Given the description of an element on the screen output the (x, y) to click on. 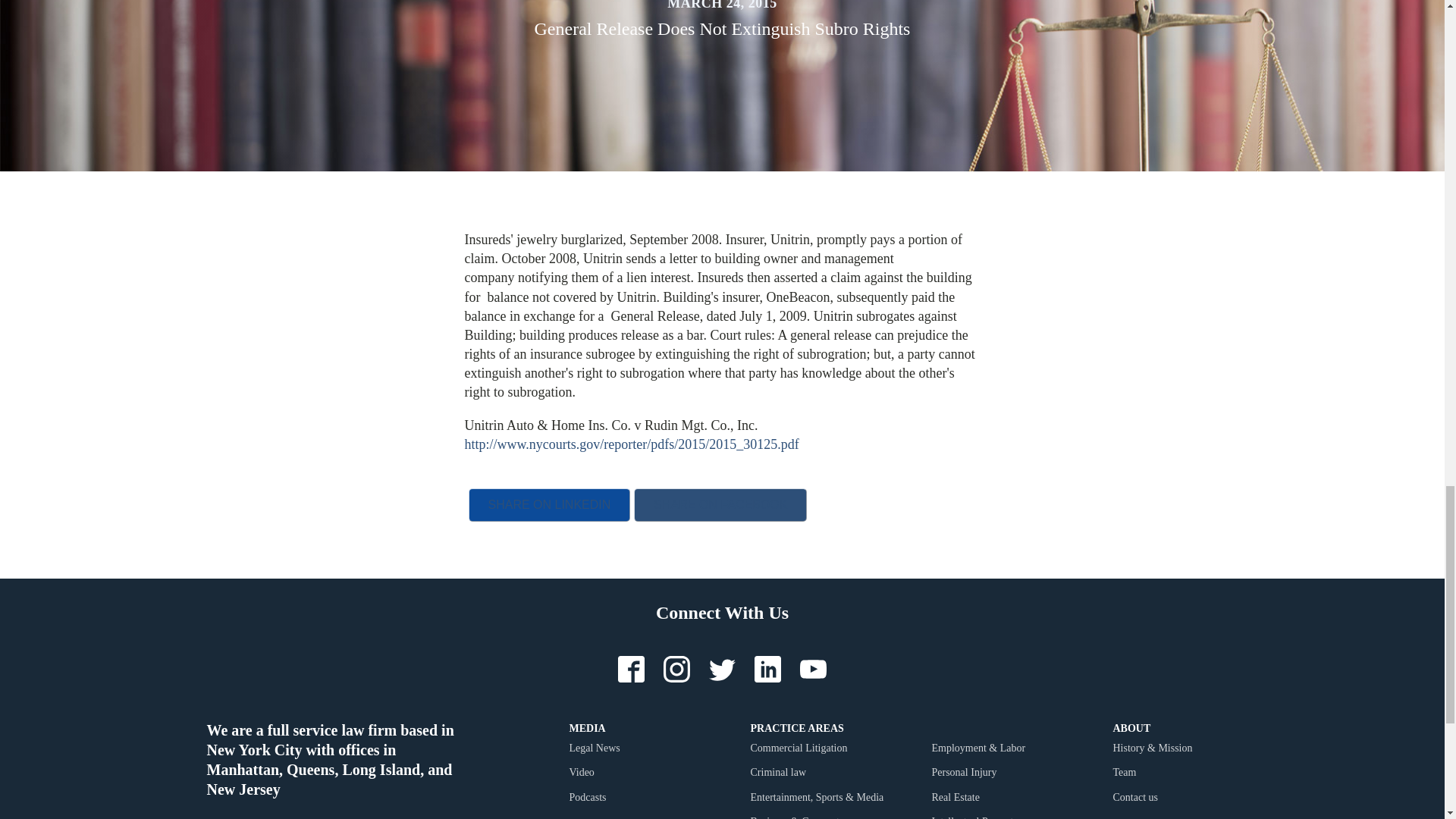
SHARE ON LINKEDIN (549, 504)
SHARE ON LINKEDIN (549, 504)
SHARE ON FACEBOOK (719, 504)
Share on LinkedIn (549, 504)
Share on Facebook (720, 504)
SHARE ON FACEBOOK (720, 504)
